Given the description of an element on the screen output the (x, y) to click on. 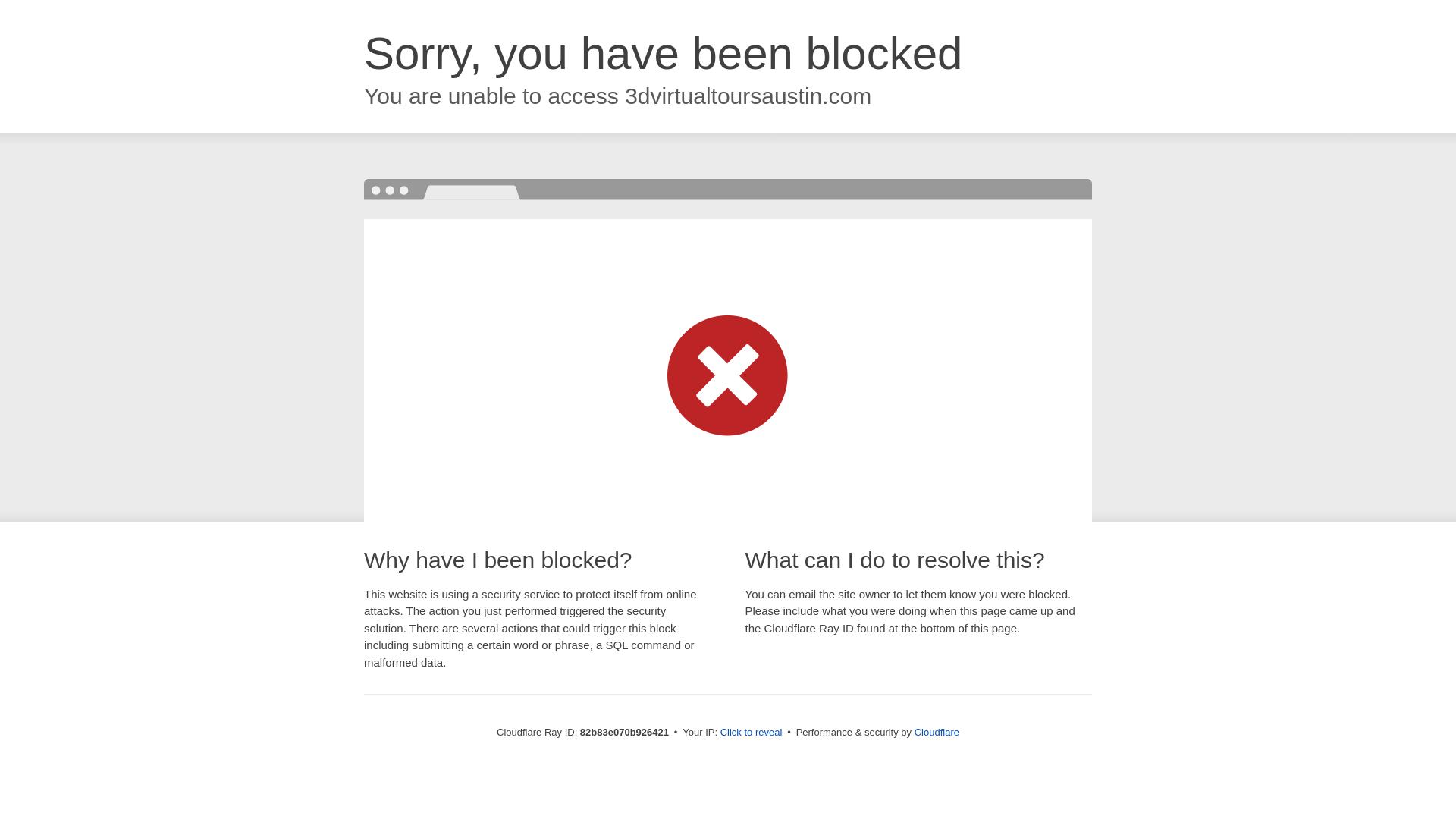
Cloudflare Element type: text (936, 731)
Click to reveal Element type: text (751, 732)
